Given the description of an element on the screen output the (x, y) to click on. 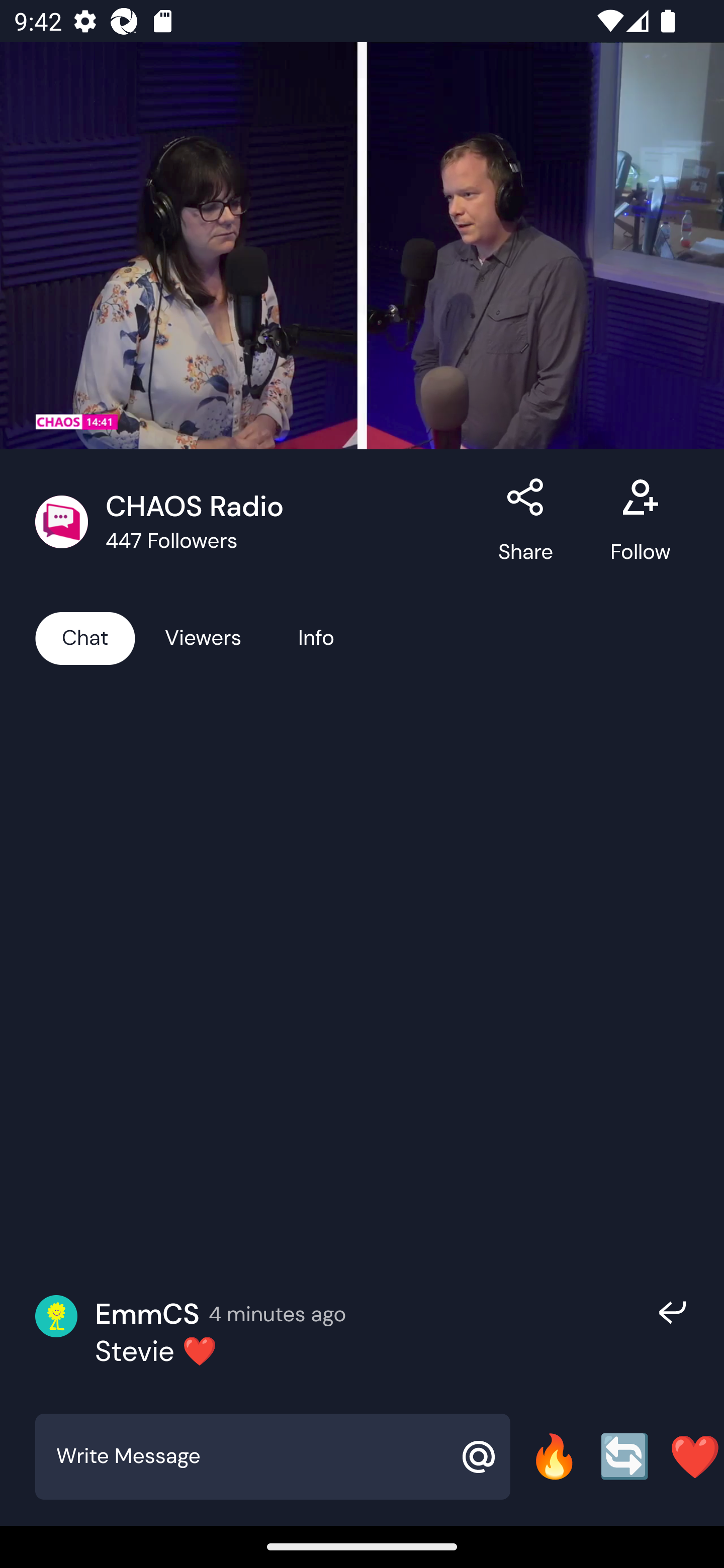
Share (525, 521)
Follow (640, 521)
Chat (84, 636)
Viewers (203, 636)
Info (316, 636)
EmmCS (146, 1313)
Write Message (250, 1456)
🔥 (553, 1456)
🔄 (624, 1456)
❤️ (694, 1456)
